Given the description of an element on the screen output the (x, y) to click on. 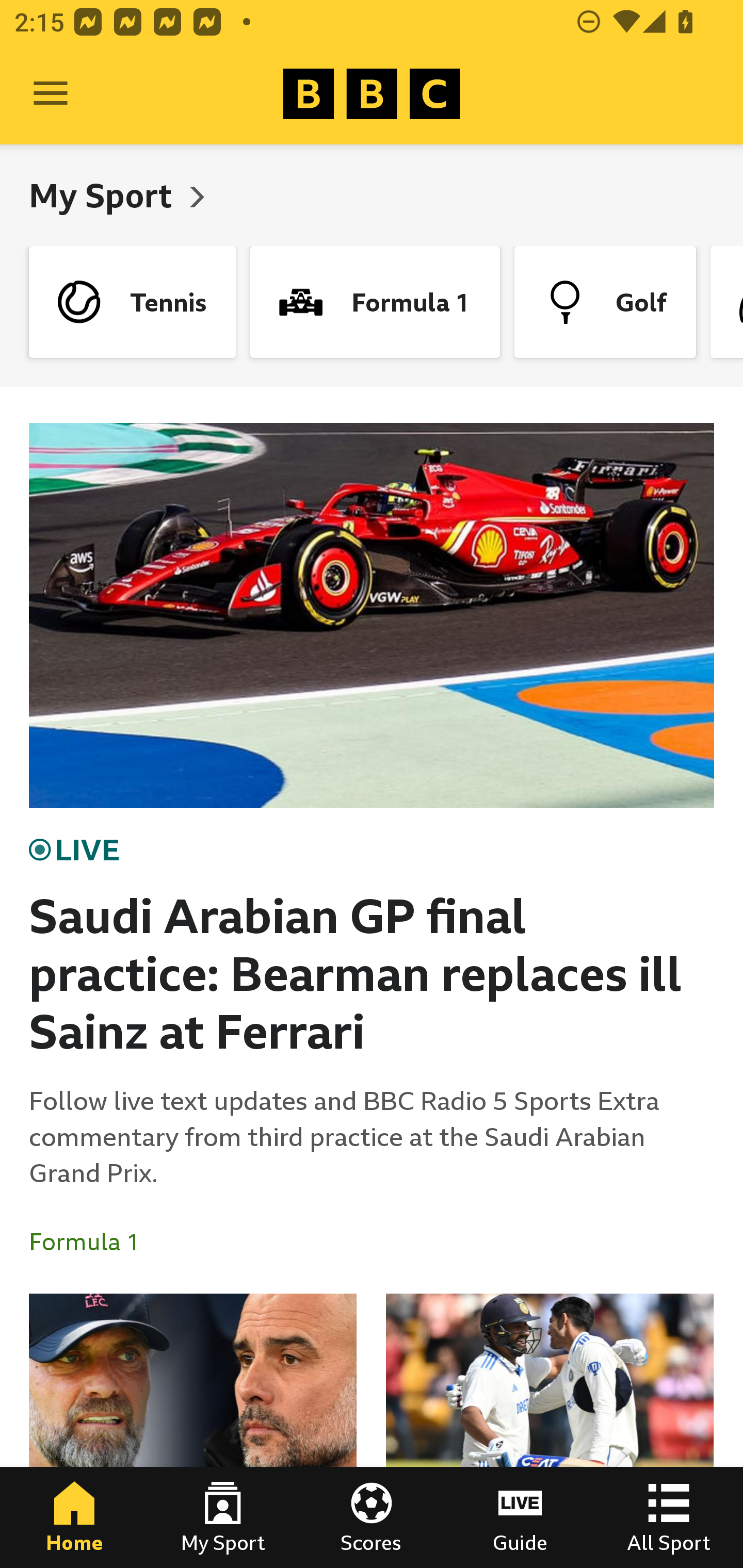
Open Menu (50, 93)
My Sport (104, 195)
Formula 1 In the section Formula 1 (91, 1241)
India build big lead despite Stokes' return wicket (549, 1430)
My Sport (222, 1517)
Scores (371, 1517)
Guide (519, 1517)
All Sport (668, 1517)
